Given the description of an element on the screen output the (x, y) to click on. 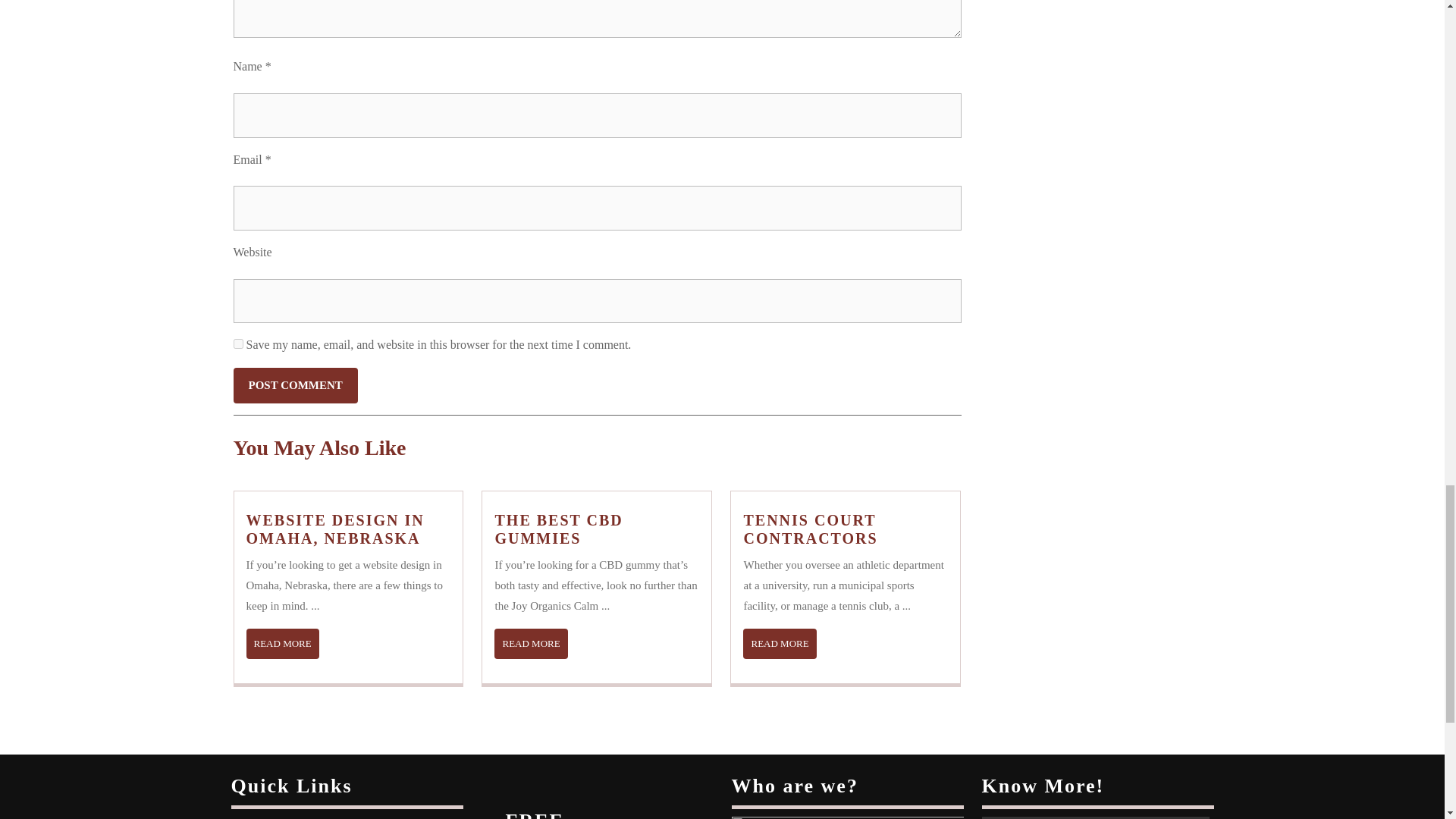
yes (282, 643)
Post Comment (559, 529)
Post Comment (778, 643)
